Given the description of an element on the screen output the (x, y) to click on. 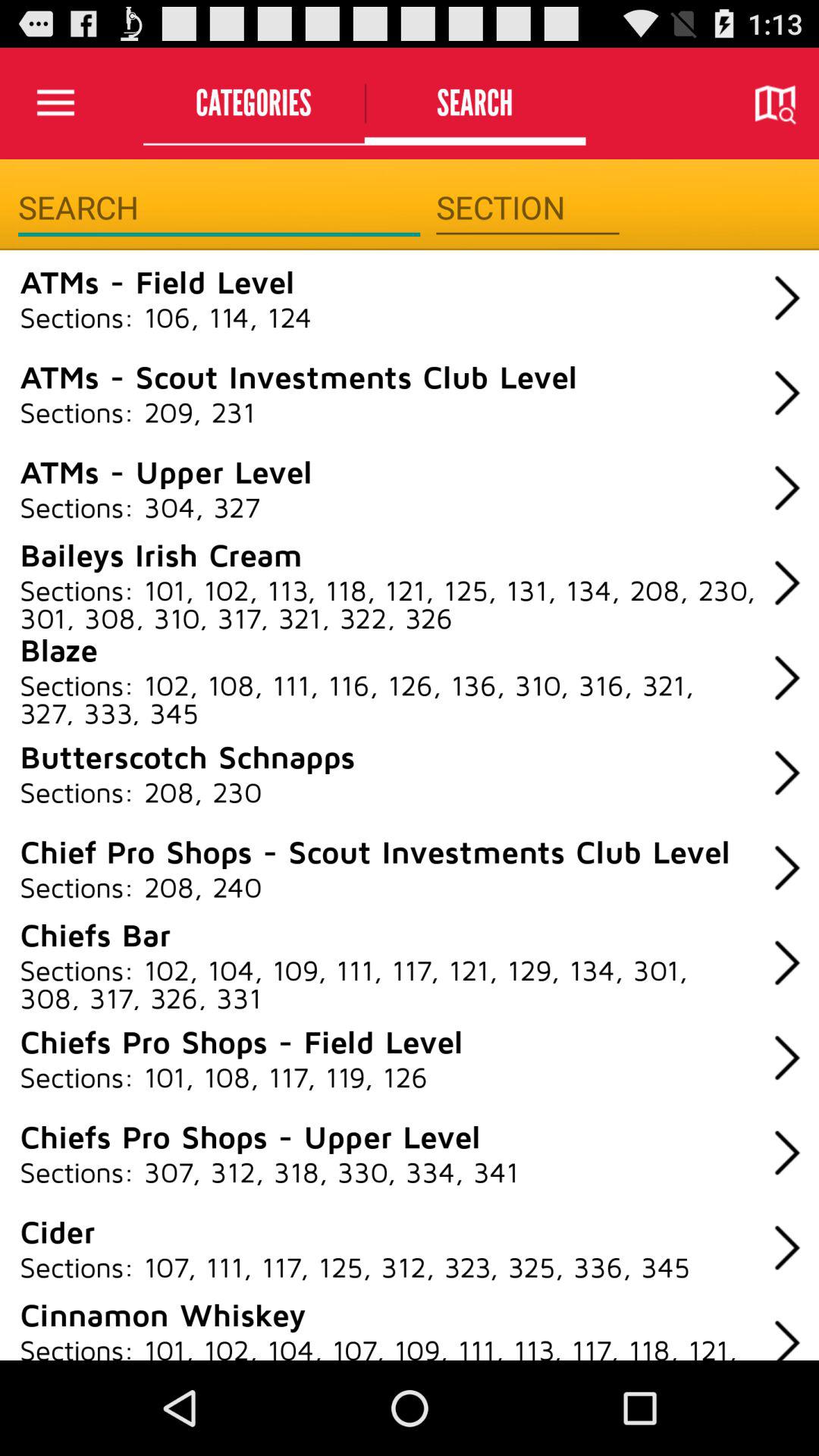
press icon above the sections 107 111 (56, 1231)
